Given the description of an element on the screen output the (x, y) to click on. 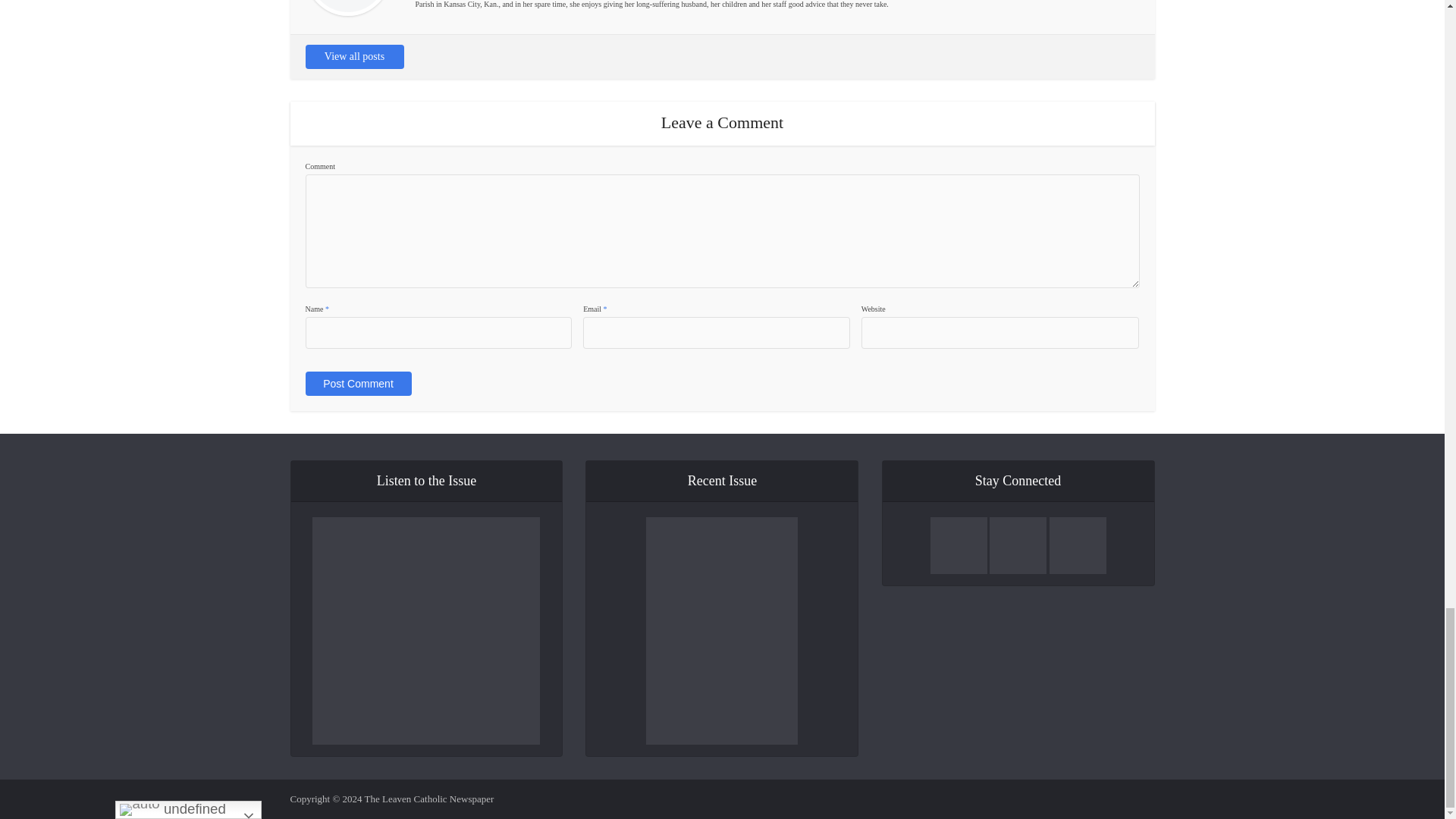
Post Comment (357, 383)
